Given the description of an element on the screen output the (x, y) to click on. 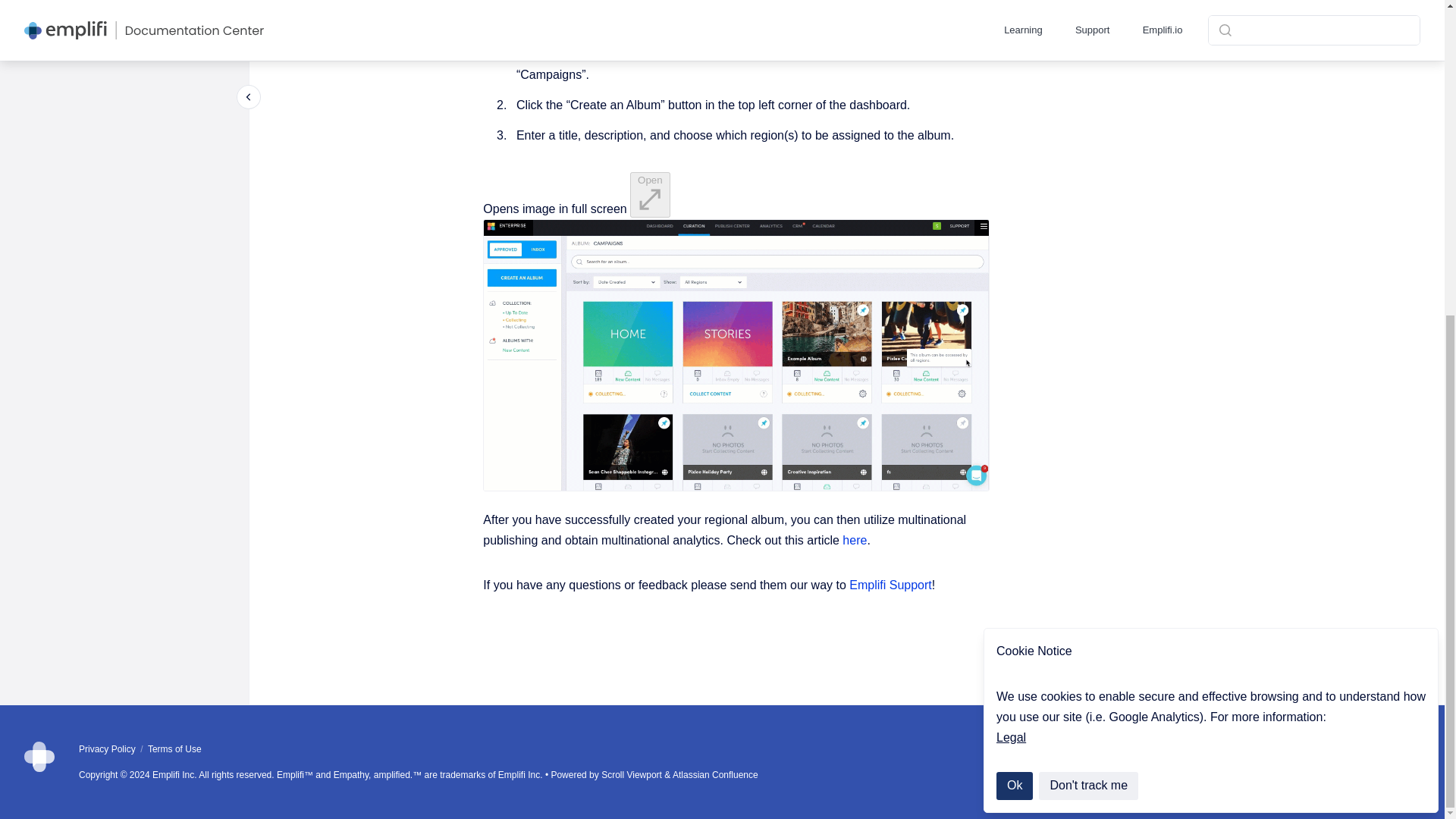
Privacy Policy (108, 748)
Don't track me (1088, 280)
Ok (1013, 280)
Terms of Use (175, 748)
Emplifi Support (889, 584)
here (854, 539)
Legal (1010, 232)
Scroll Viewport (632, 774)
Atlassian Confluence (715, 774)
